Given the description of an element on the screen output the (x, y) to click on. 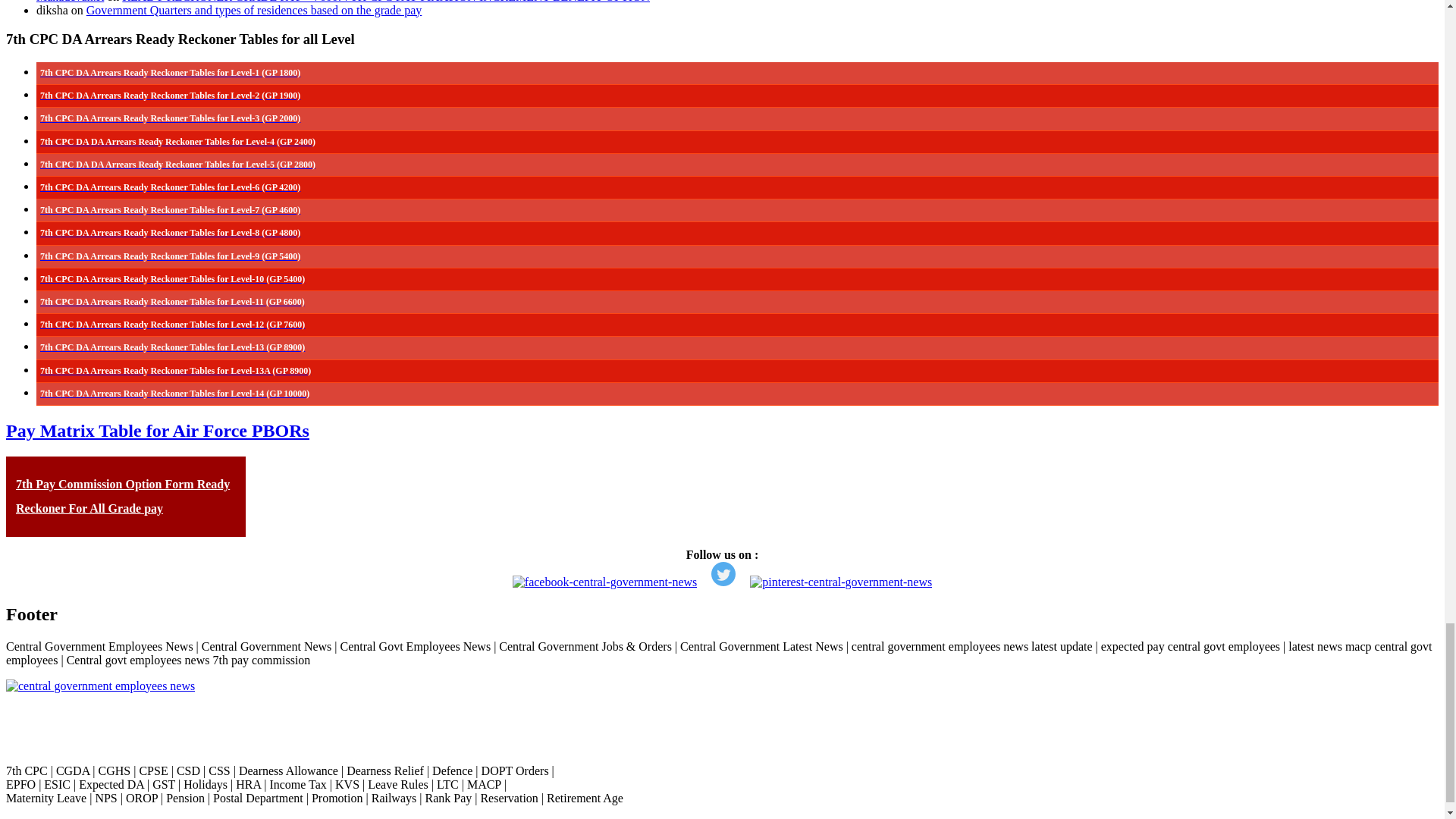
Central Government Employees News Android App (100, 685)
